Given the description of an element on the screen output the (x, y) to click on. 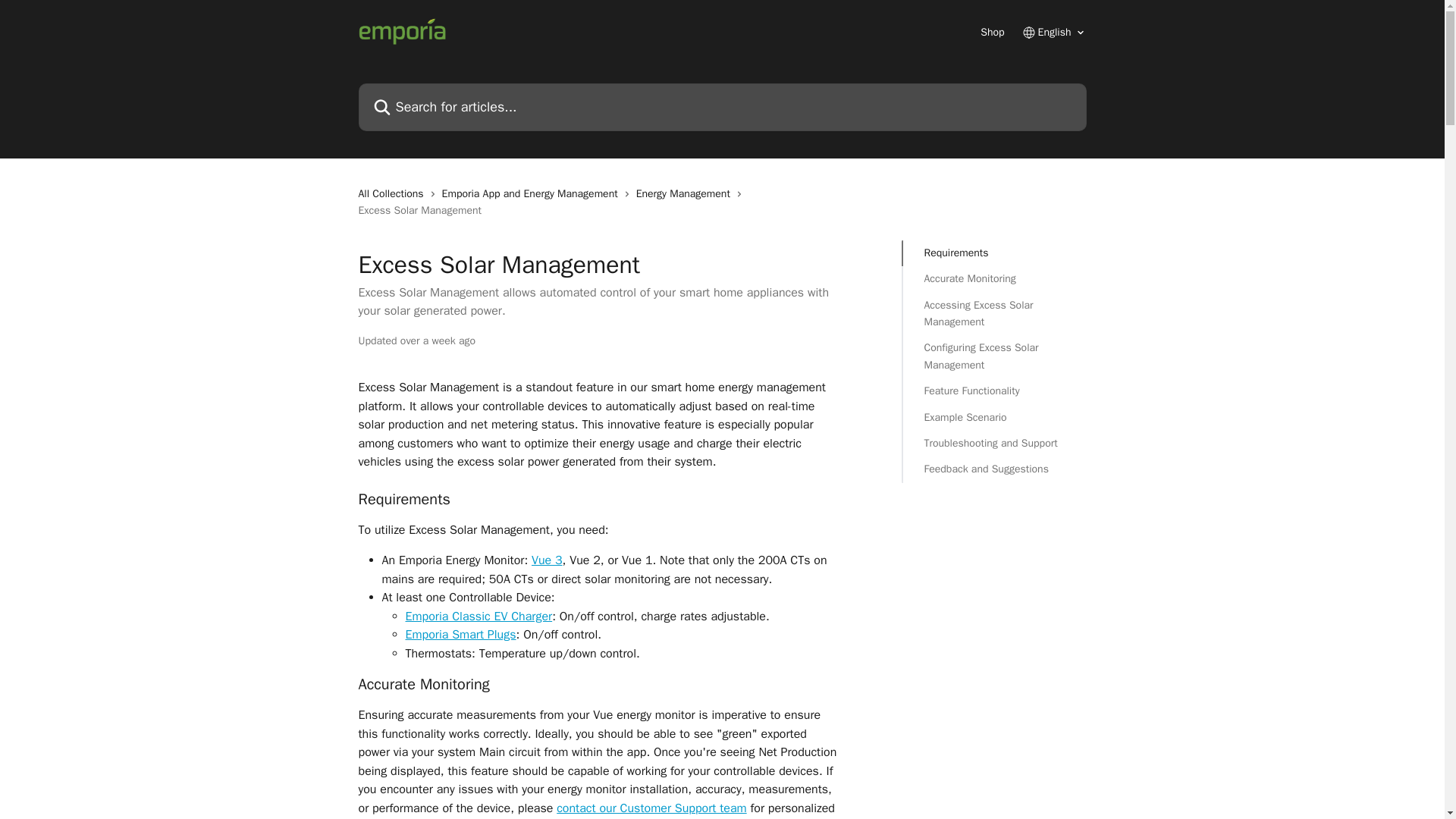
Vue 3 (546, 560)
Troubleshooting and Support (993, 443)
contact our Customer Support team (651, 807)
Requirements (993, 252)
Feature Functionality (993, 391)
Shop (991, 32)
Configuring Excess Solar Management (993, 356)
Energy Management (686, 193)
Accessing Excess Solar Management (993, 314)
Emporia App and Energy Management (533, 193)
